Given the description of an element on the screen output the (x, y) to click on. 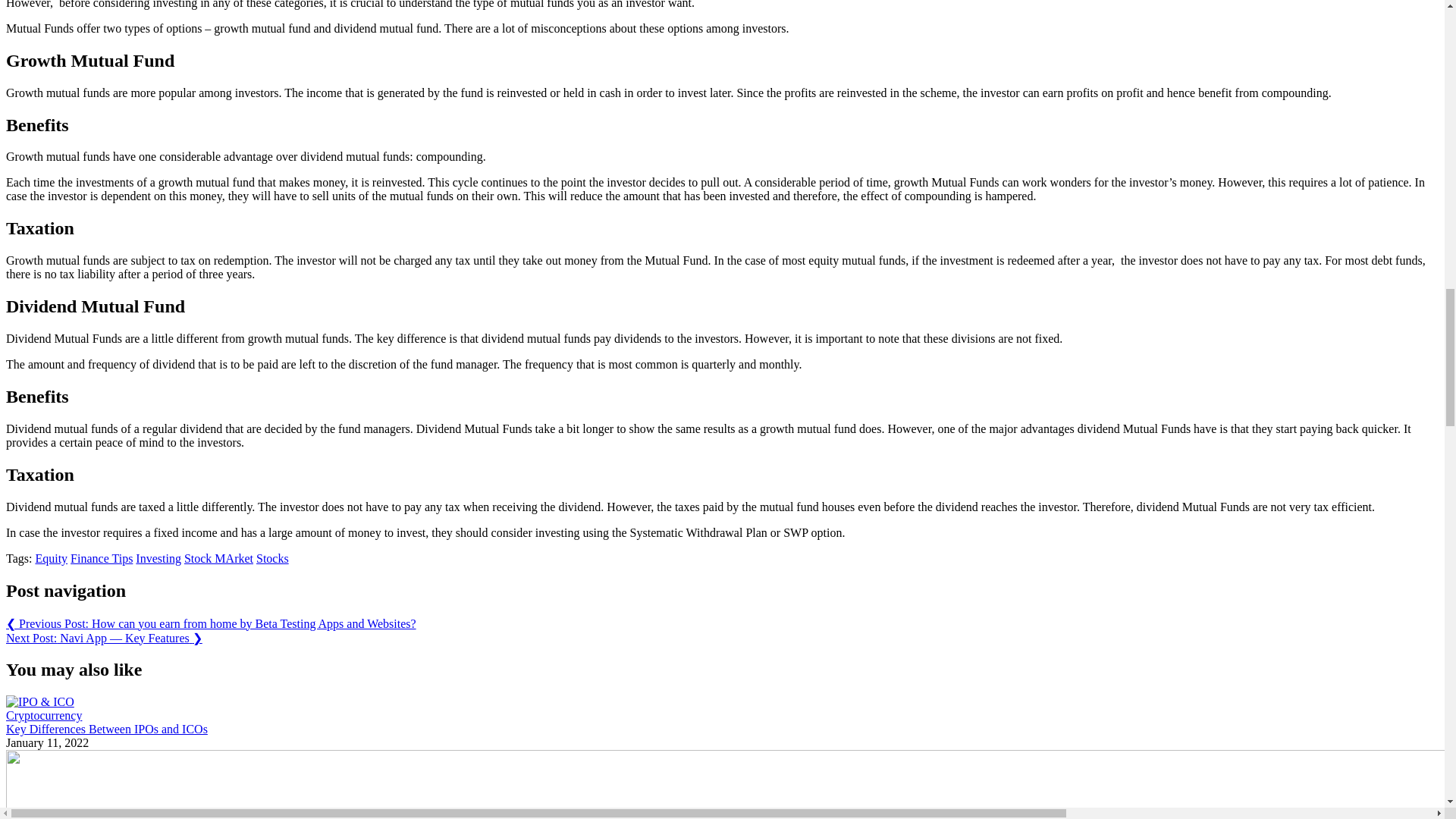
Cryptocurrency (43, 715)
Key Differences Between IPOs and ICOs (106, 728)
Investing (157, 558)
Stocks (272, 558)
Finance Tips (100, 558)
Stock MArket (218, 558)
Equity (50, 558)
